Given the description of an element on the screen output the (x, y) to click on. 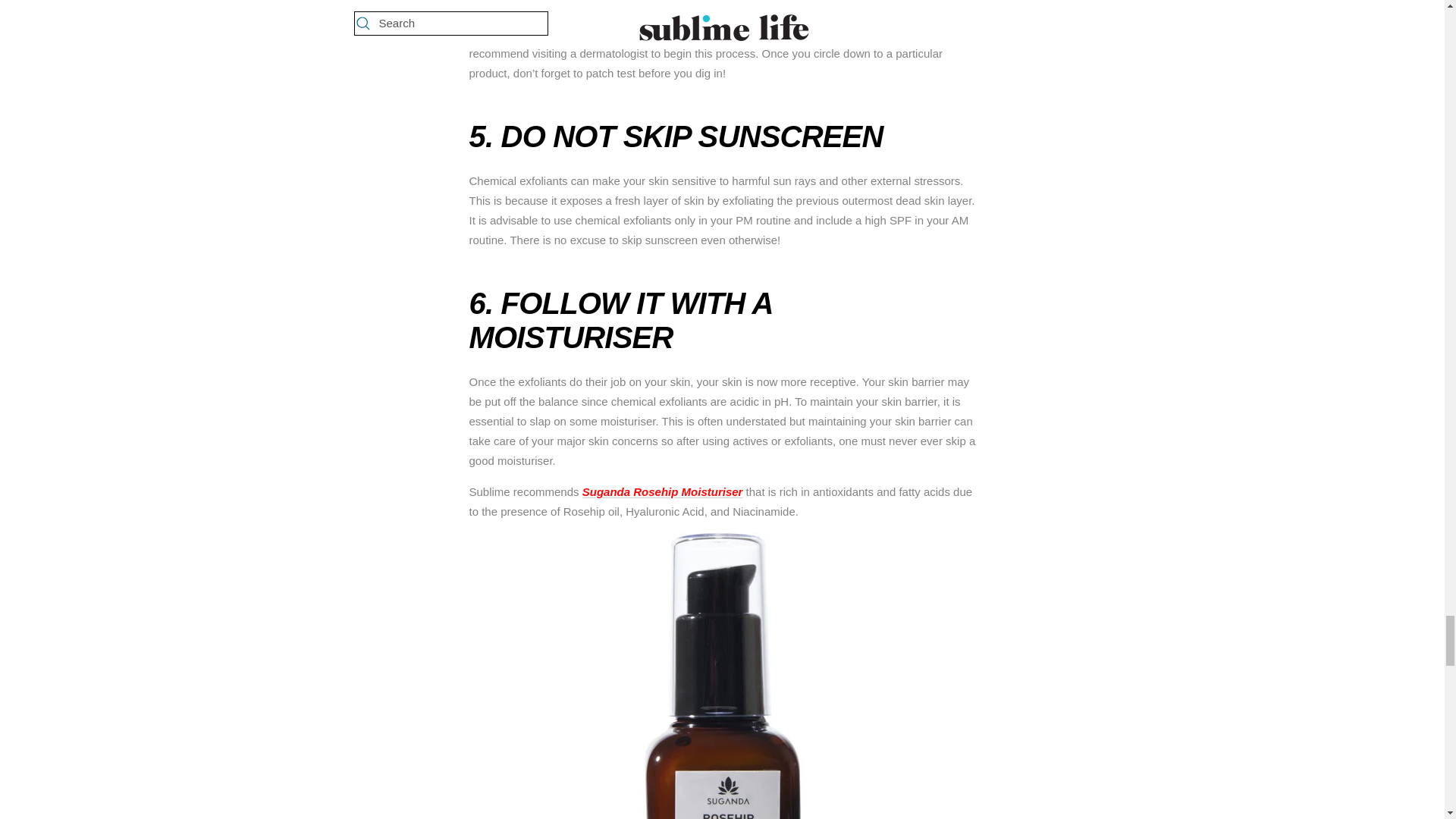
Suganda Rosehip Moisturiser on www.sublimelife.in (662, 491)
